Given the description of an element on the screen output the (x, y) to click on. 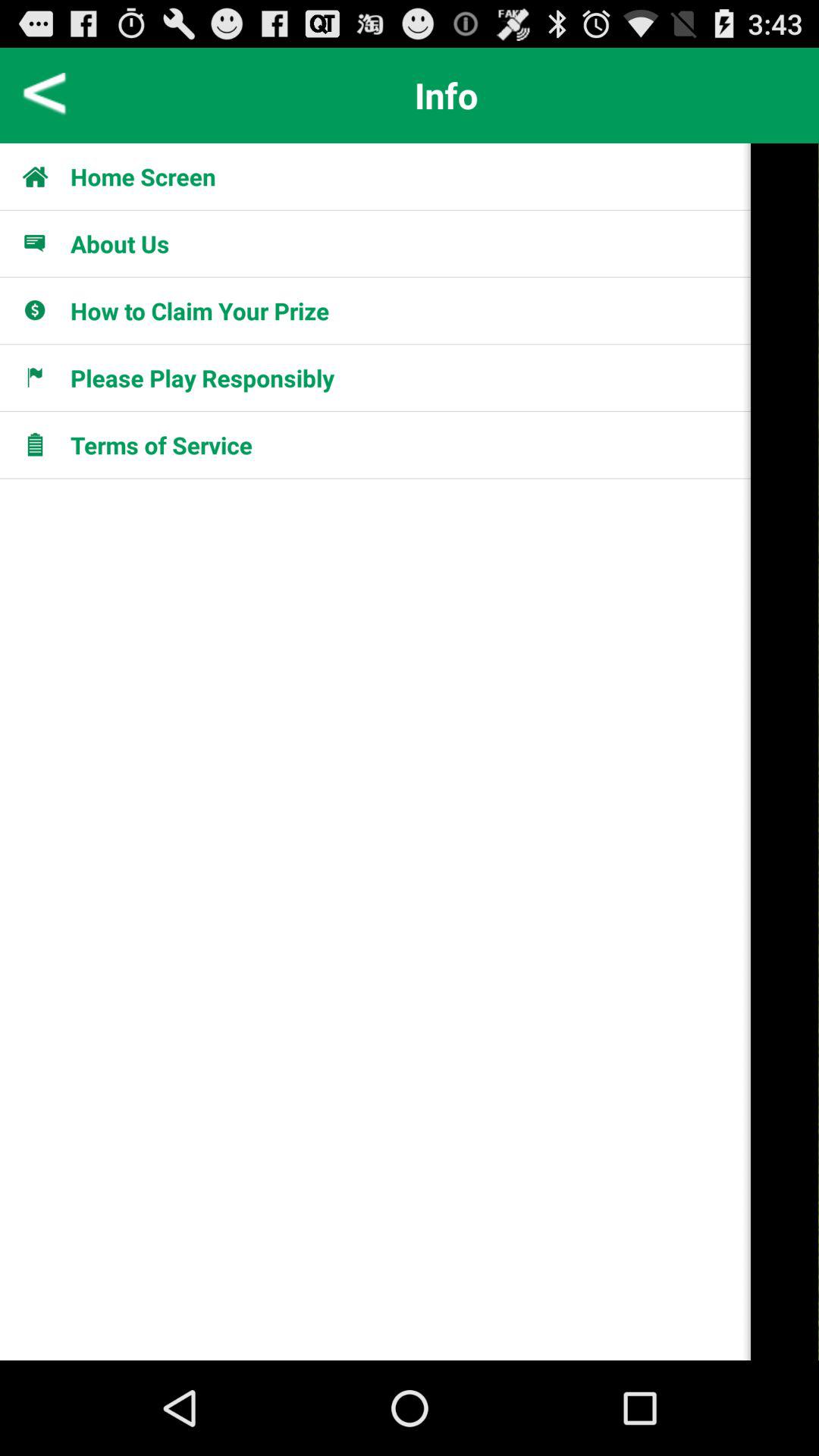
click on fourth icon (43, 377)
click on about us icon (43, 243)
click on the icon in the third option (43, 310)
click on the icon beside terms of service (43, 444)
click on the button above home screen (446, 95)
